Given the description of an element on the screen output the (x, y) to click on. 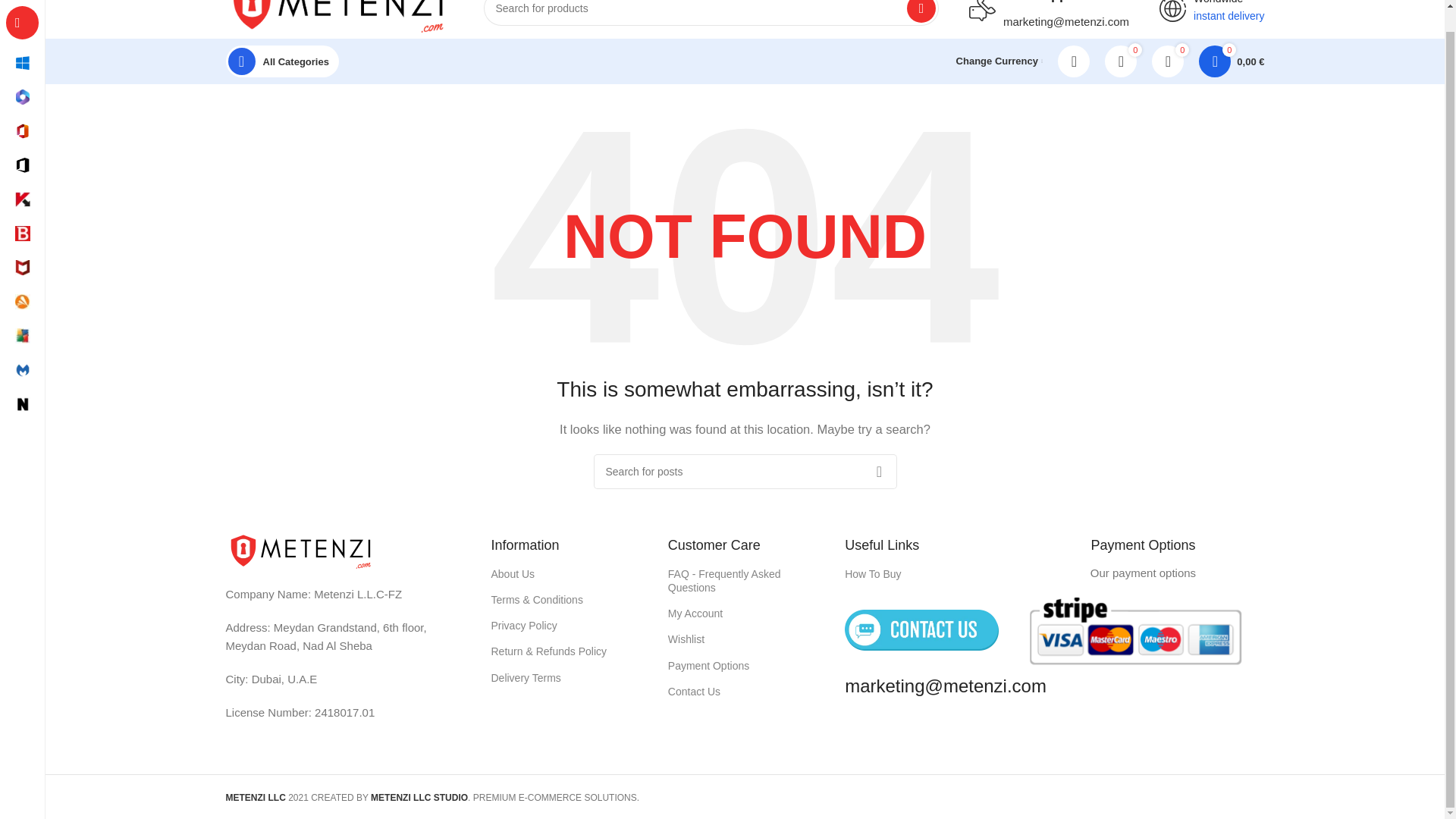
Privacy Policy (568, 625)
Search for posts (744, 471)
About Us (568, 574)
Delivery Terms (568, 678)
Wishlist (745, 638)
support (982, 10)
FAQ - Frequently Asked Questions (745, 580)
Search for products (711, 12)
Payment Options (745, 665)
My Account (745, 613)
Shopping cart (1231, 60)
worldwide (1172, 10)
Search (921, 11)
0 (1120, 60)
My account (1073, 60)
